Given the description of an element on the screen output the (x, y) to click on. 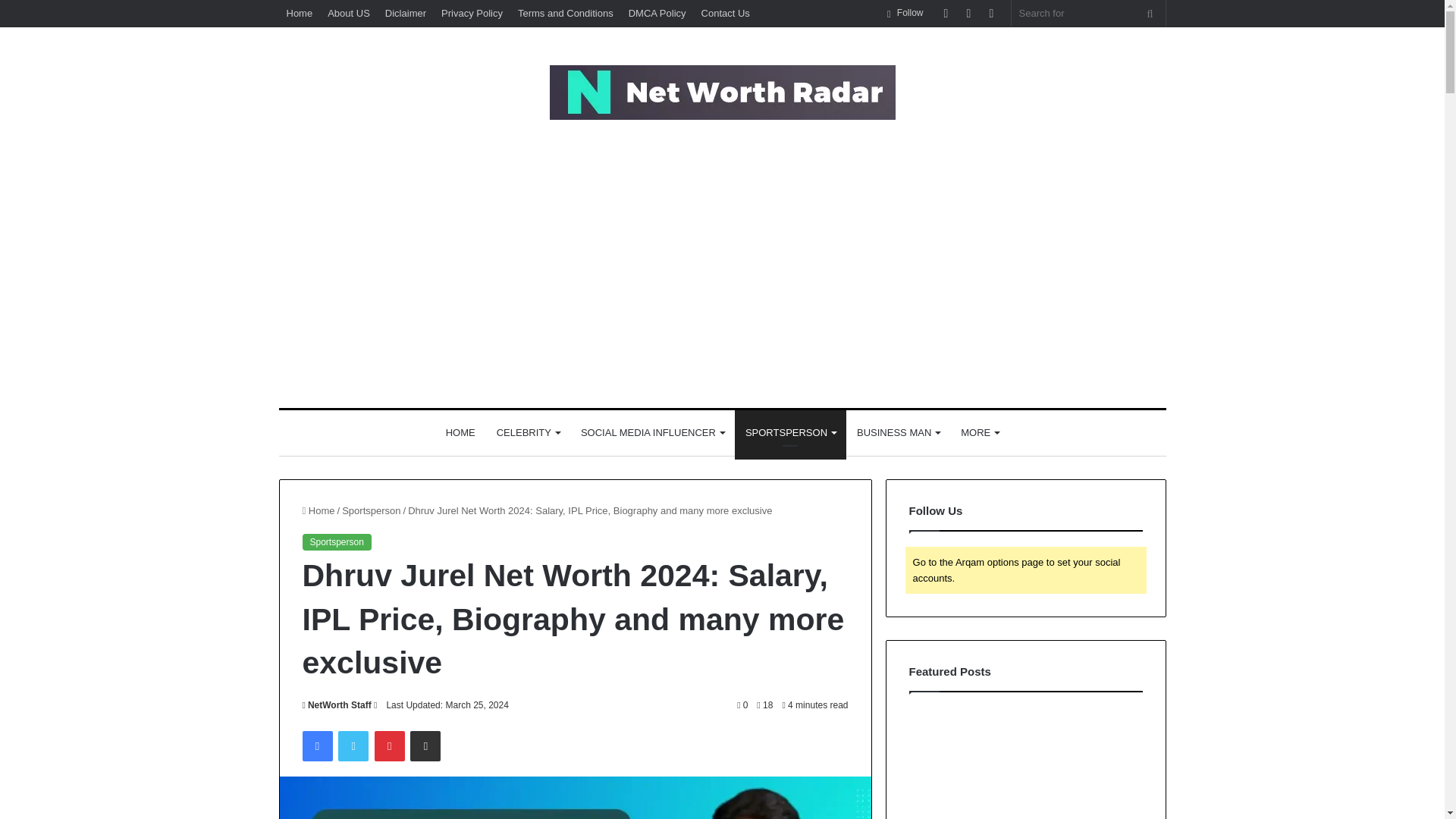
BUSINESS MAN (897, 432)
HOME (460, 432)
Search for (1149, 13)
Contact Us (725, 13)
NetWorth Staff (336, 705)
SPORTSPERSON (790, 432)
Privacy Policy (472, 13)
About US (348, 13)
Diclaimer (405, 13)
DMCA Policy (657, 13)
Terms and Conditions (566, 13)
Search for (1088, 13)
SOCIAL MEDIA INFLUENCER (652, 432)
CELEBRITY (528, 432)
